Given the description of an element on the screen output the (x, y) to click on. 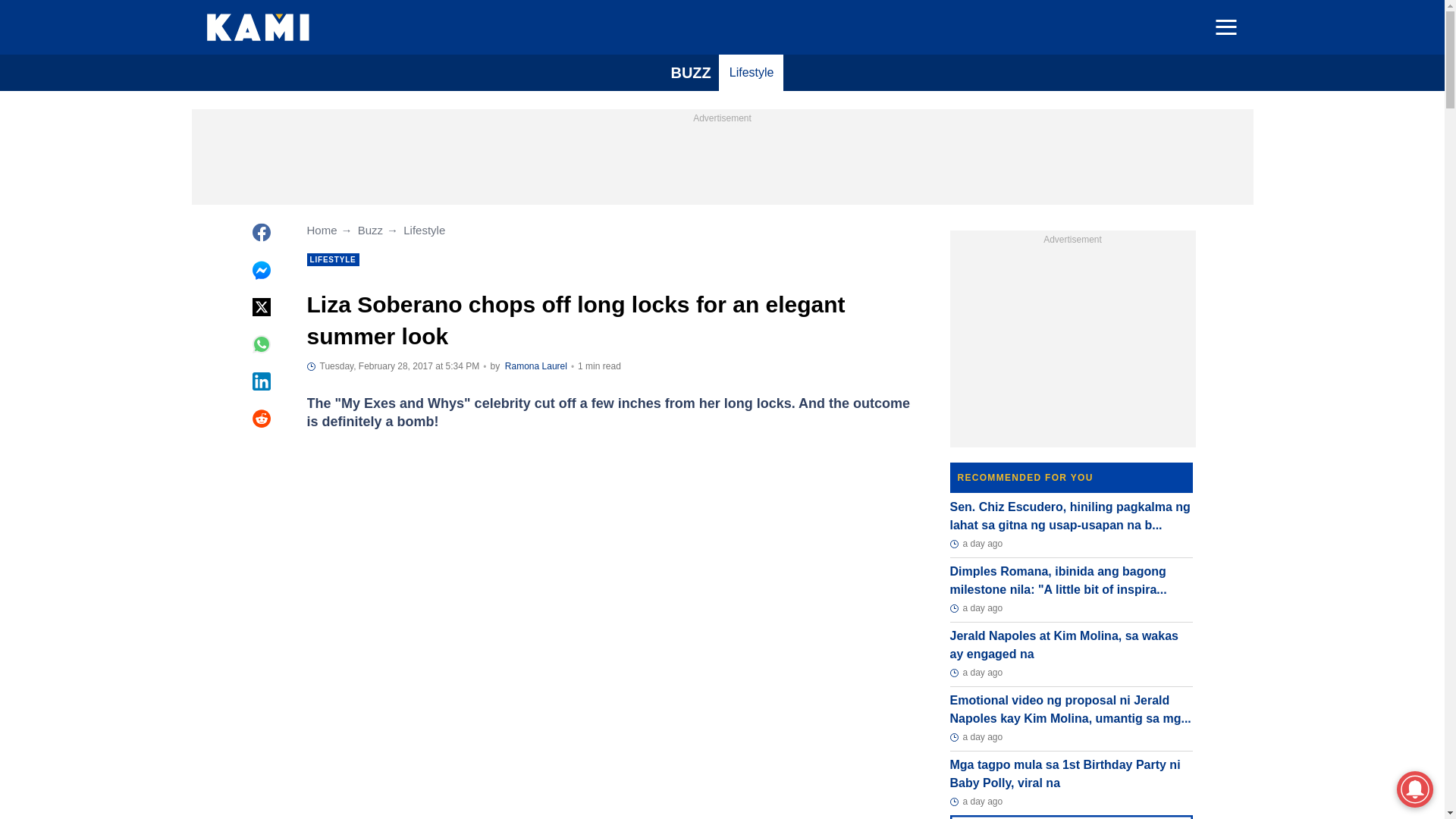
Lifestyle (751, 72)
Author page (536, 366)
BUZZ (690, 72)
